Given the description of an element on the screen output the (x, y) to click on. 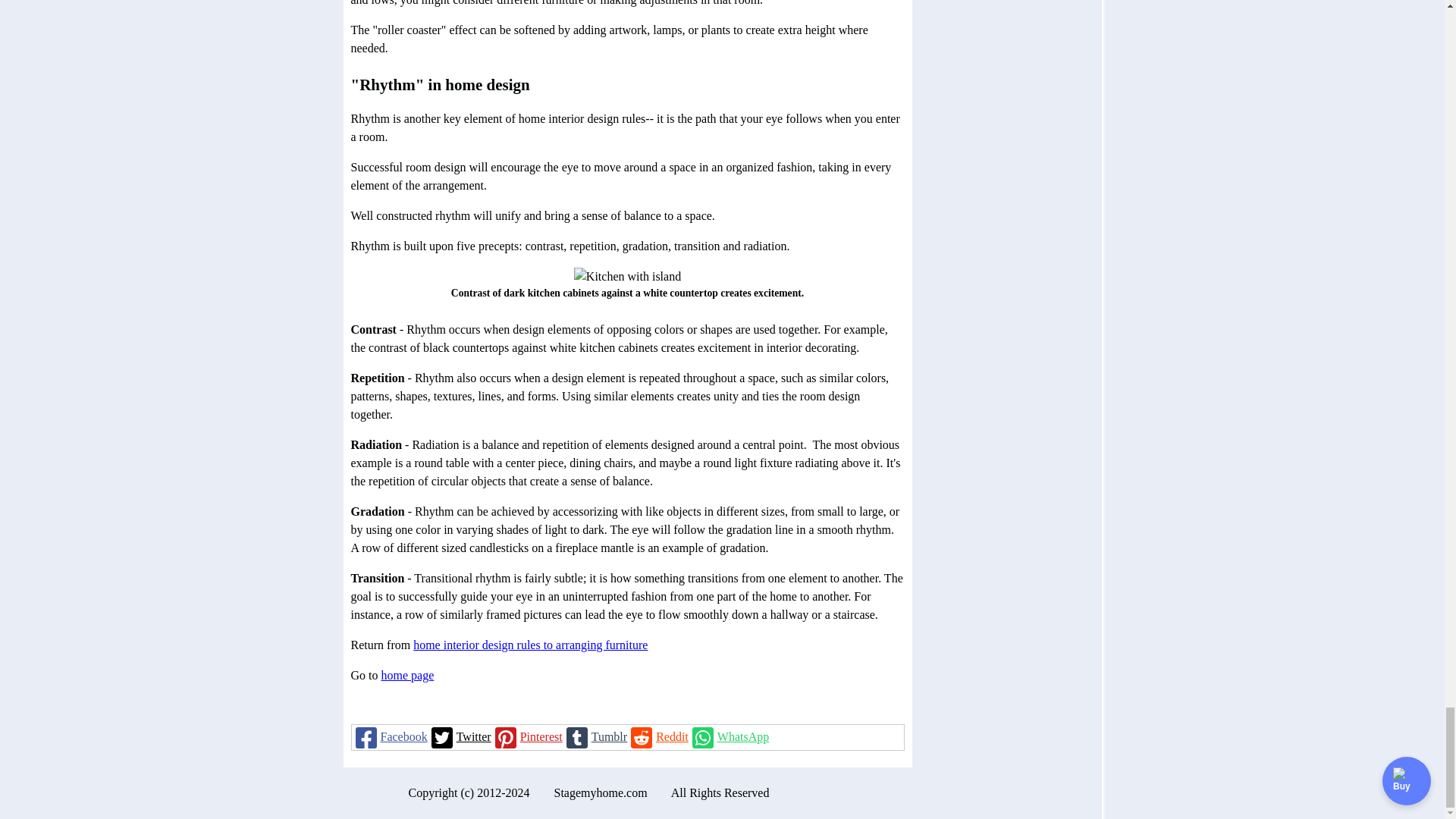
Kitchen with island (627, 276)
Reddit (657, 737)
Pinterest (527, 737)
WhatsApp (728, 737)
home page (406, 675)
home interior design rules to arranging furniture (530, 644)
Facebook (390, 737)
Tumblr (594, 737)
Twitter (460, 737)
